Given the description of an element on the screen output the (x, y) to click on. 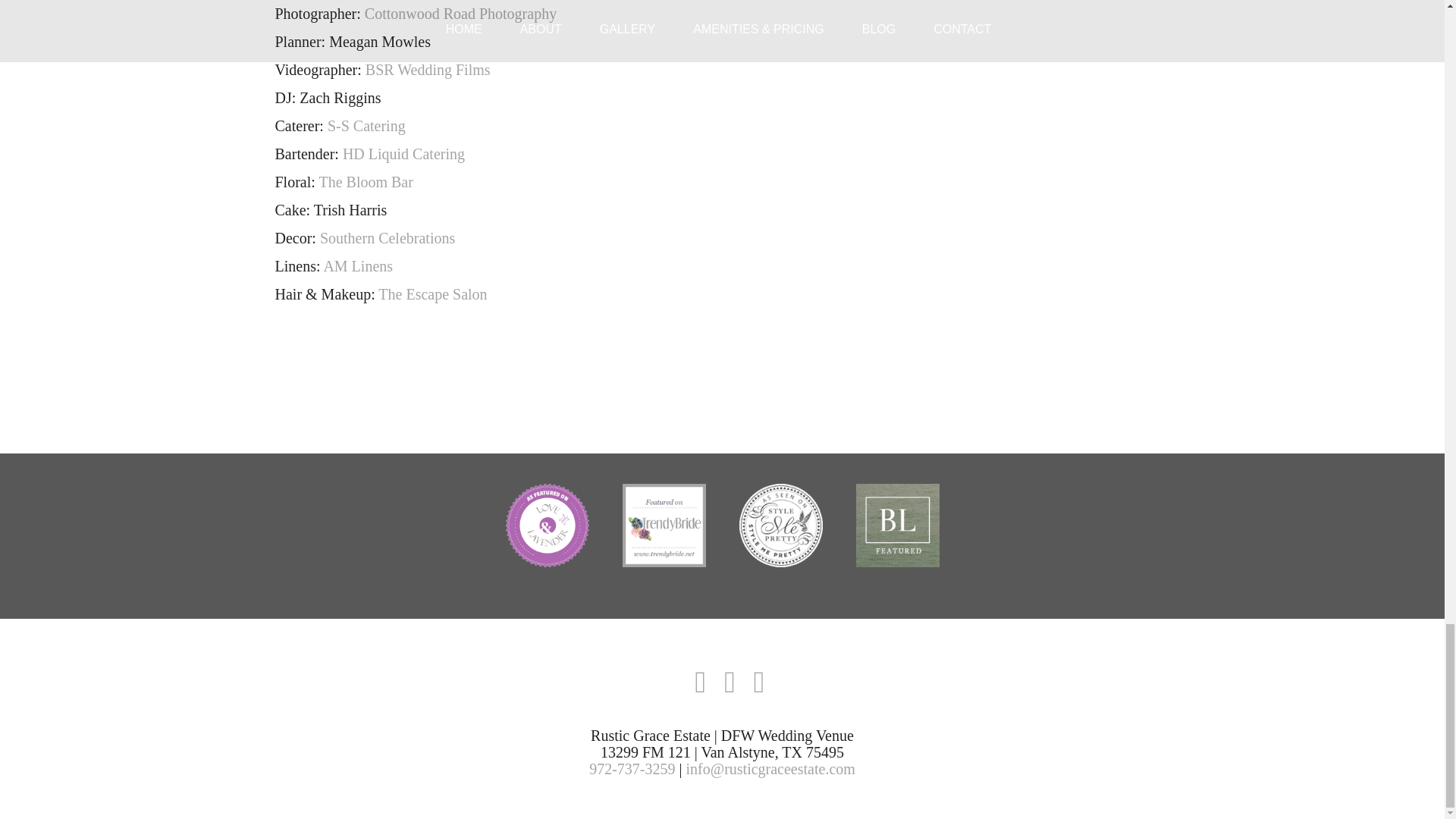
Cottonwood Road Photography (460, 13)
HD Liquid Catering (403, 153)
The Bloom Bar (365, 181)
BSR Wedding Films (427, 69)
S-S Catering (366, 125)
